Given the description of an element on the screen output the (x, y) to click on. 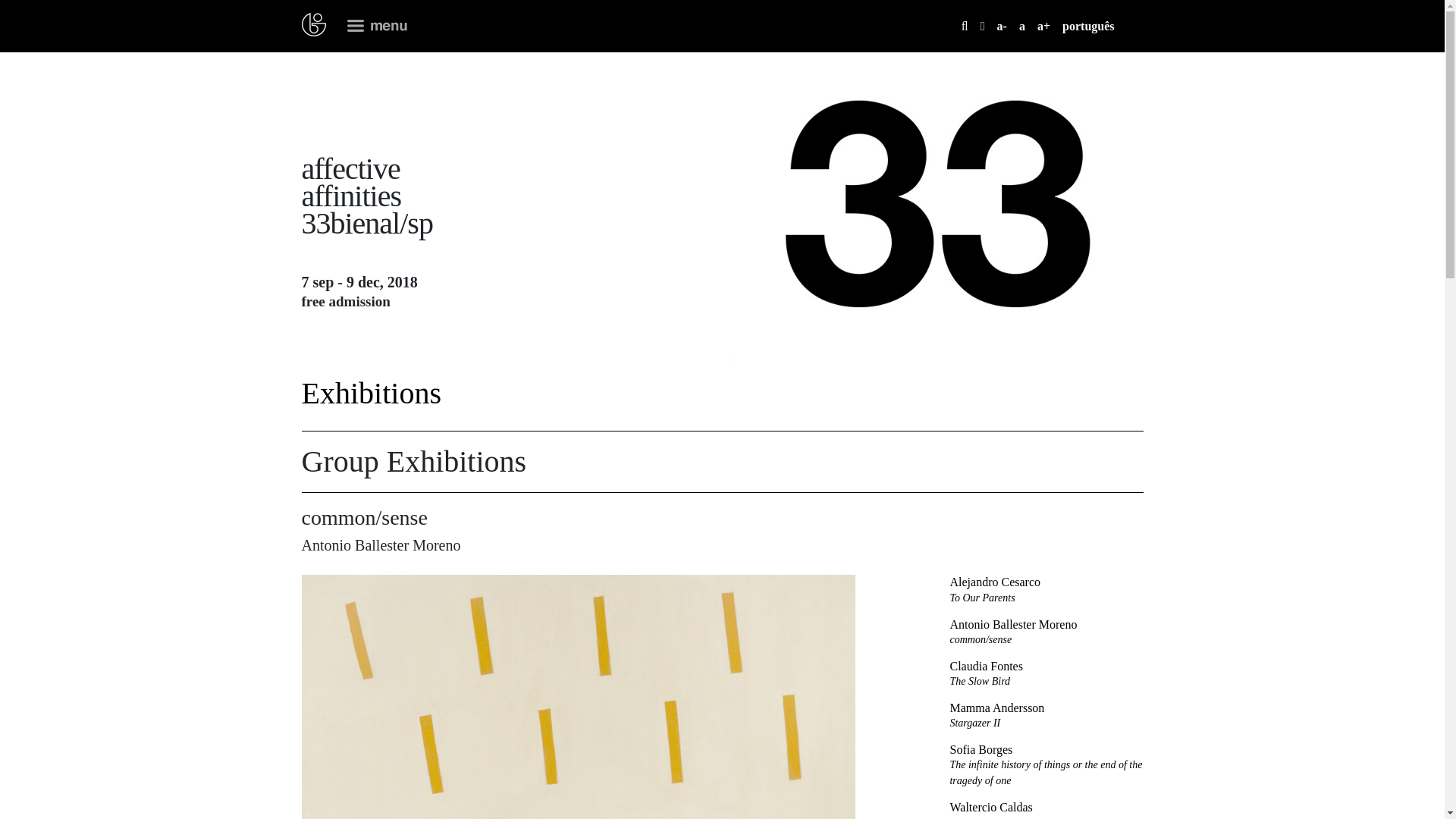
Exhibitions (1045, 674)
